Given the description of an element on the screen output the (x, y) to click on. 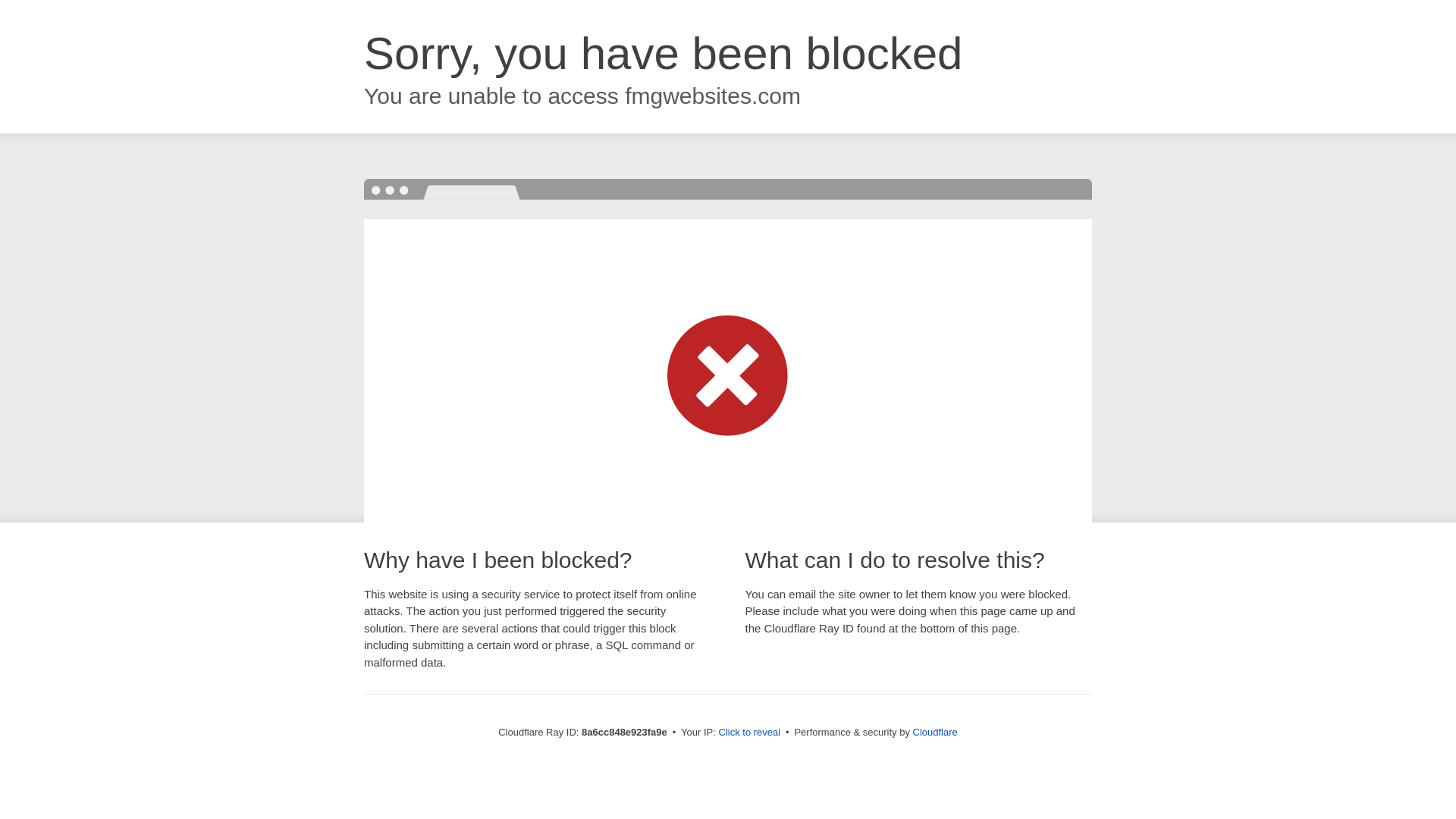
Cloudflare (935, 731)
Click to reveal (749, 732)
